Given the description of an element on the screen output the (x, y) to click on. 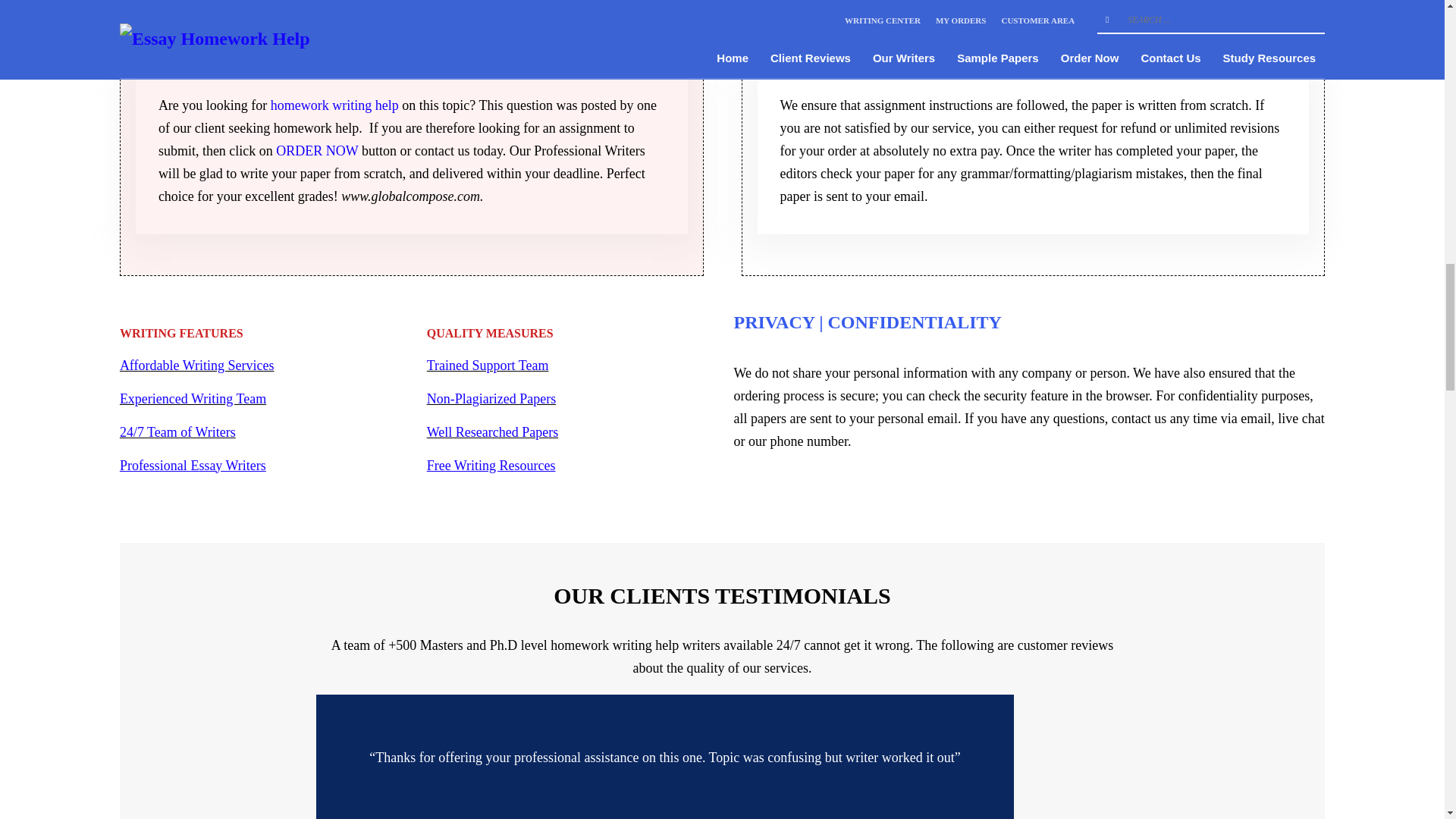
Well Researched Papers (491, 432)
Professional Essay Writers (192, 465)
ORDER NOW (317, 150)
Non-Plagiarized Papers (491, 398)
Affordable Writing Services (197, 365)
Experienced Writing Team (192, 398)
homework writing help (334, 105)
Free Writing Resources (491, 465)
Trained Support Team (487, 365)
